Given the description of an element on the screen output the (x, y) to click on. 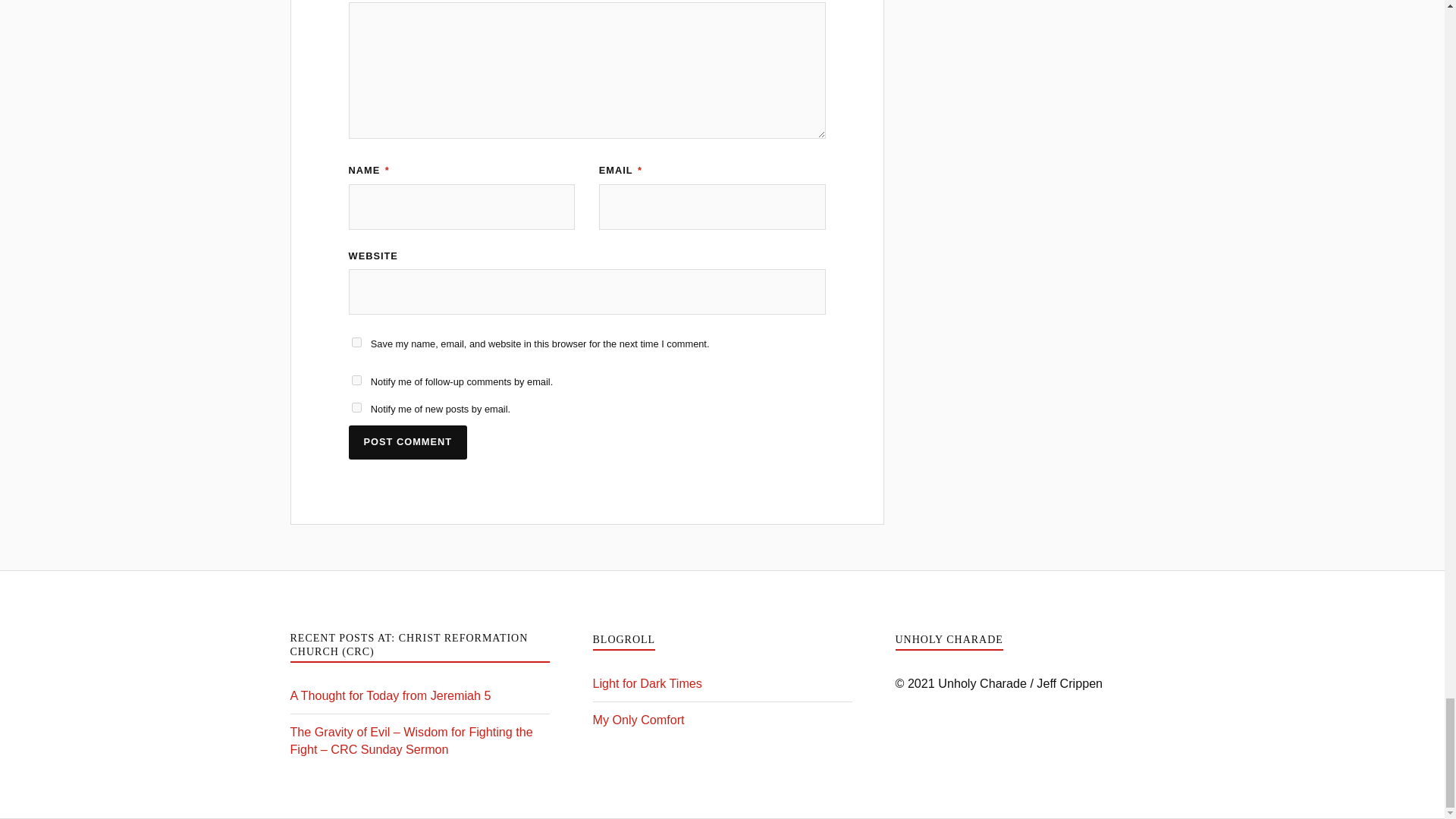
yes (356, 342)
Post Comment (408, 442)
subscribe (356, 407)
subscribe (356, 379)
